Given the description of an element on the screen output the (x, y) to click on. 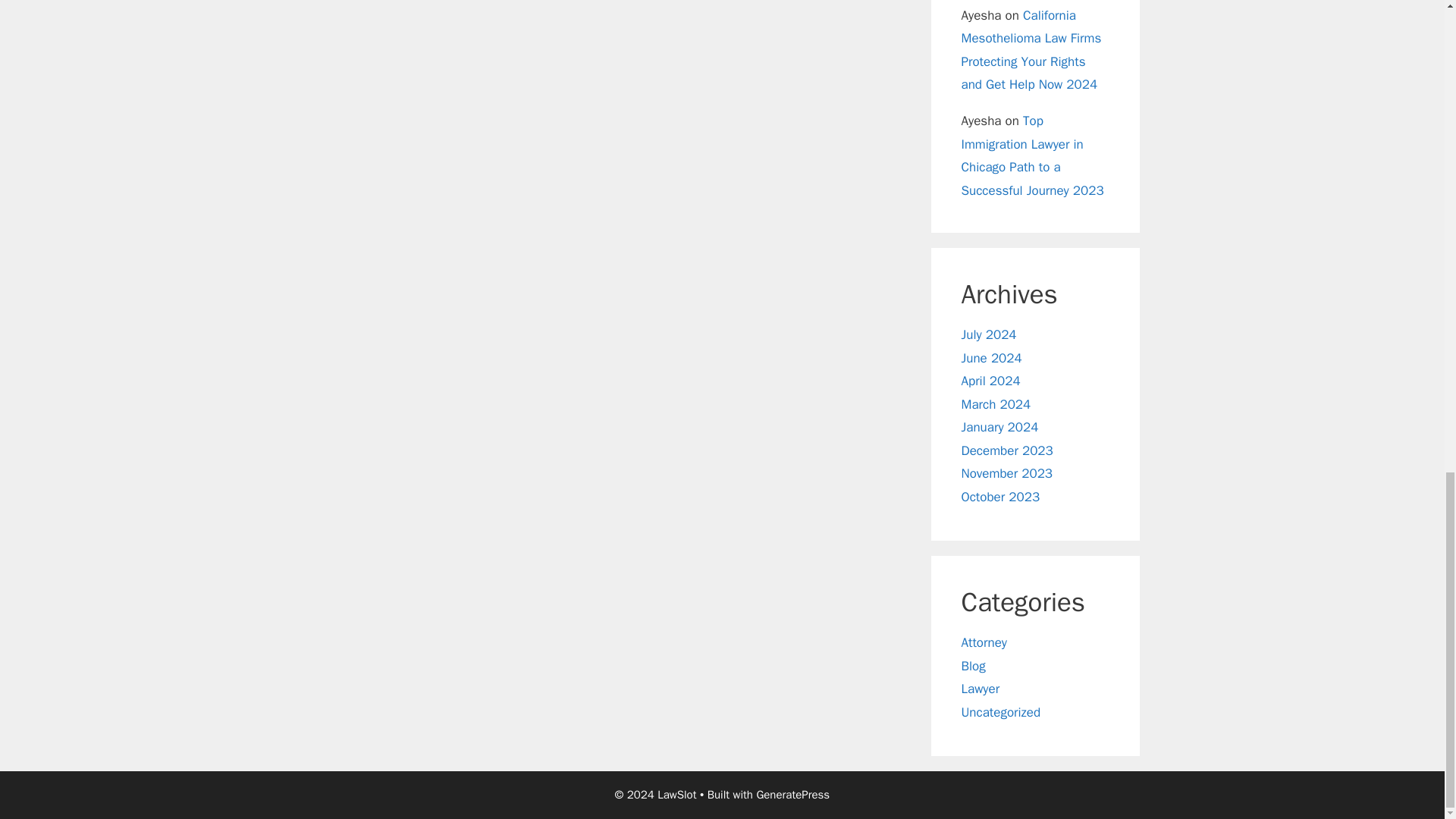
Uncategorized (1000, 712)
Attorney (983, 642)
October 2023 (1000, 496)
GeneratePress (792, 794)
Blog (972, 666)
July 2024 (988, 334)
March 2024 (995, 404)
December 2023 (1006, 450)
June 2024 (991, 358)
January 2024 (999, 426)
Lawyer (980, 688)
November 2023 (1006, 473)
April 2024 (990, 381)
